Given the description of an element on the screen output the (x, y) to click on. 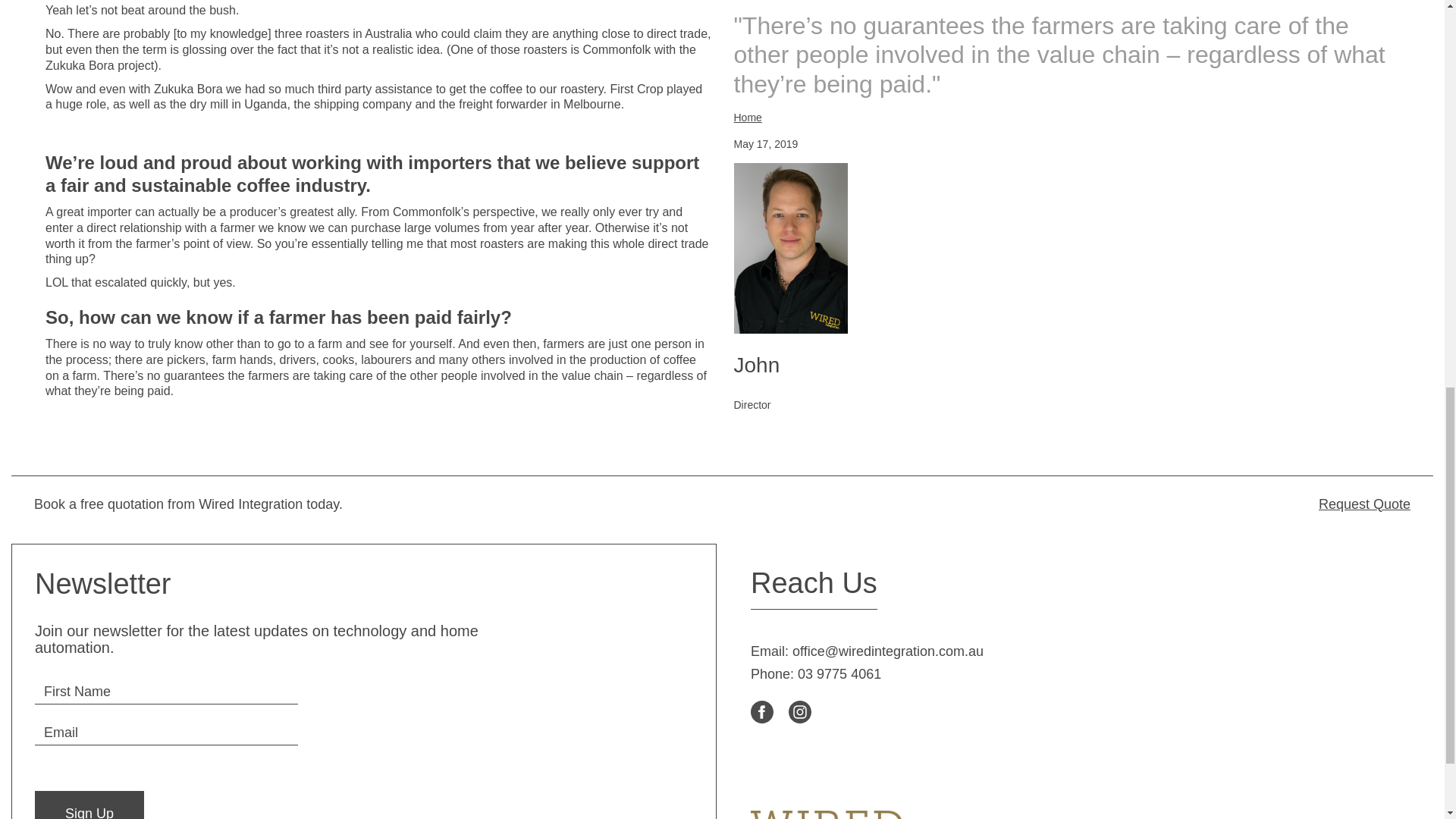
Request Quote (1069, 503)
03 9775 4061 (838, 673)
Sign Up (89, 805)
Sign Up (89, 805)
